Given the description of an element on the screen output the (x, y) to click on. 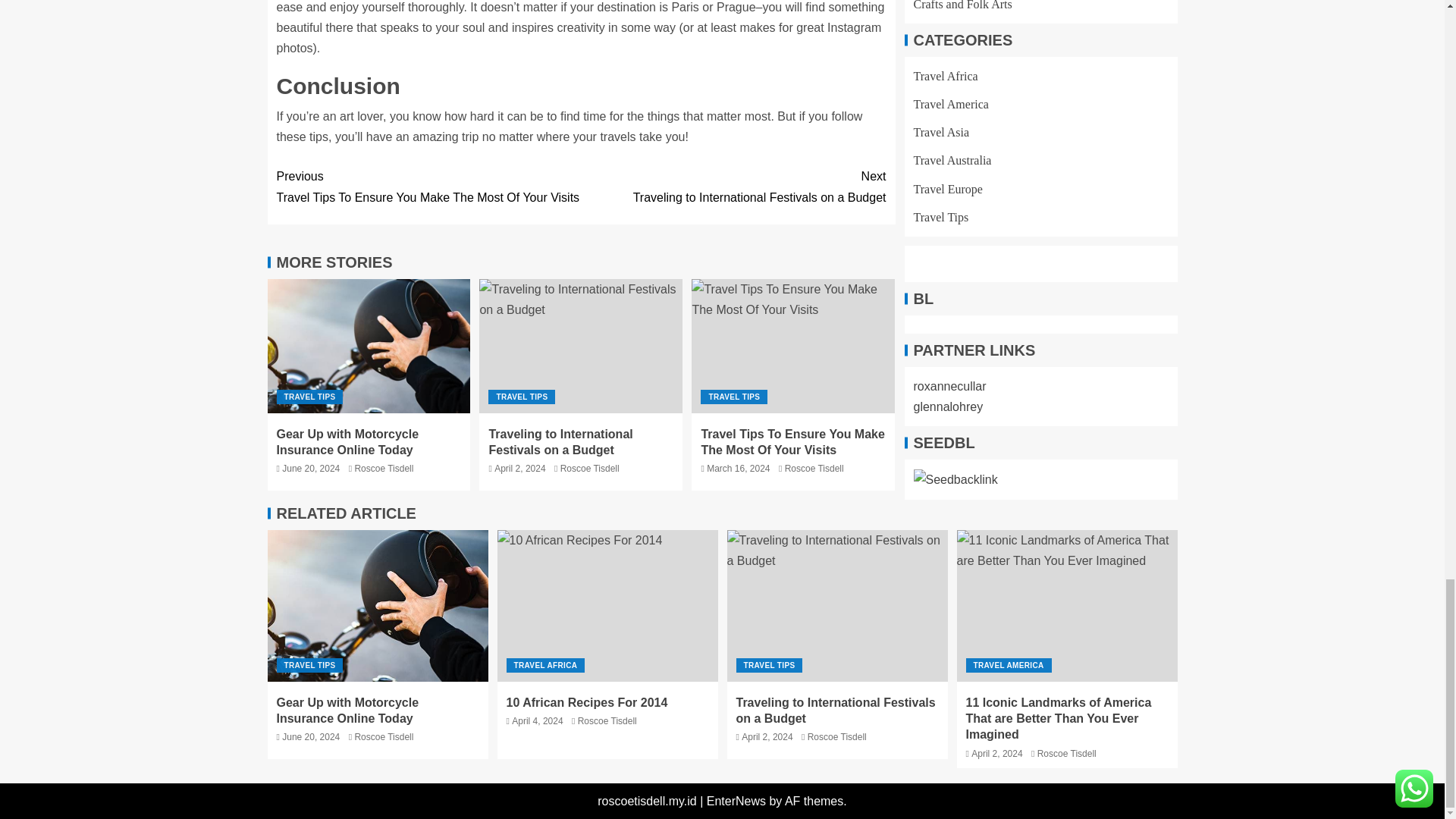
Travel Tips To Ensure You Make The Most Of Your Visits (793, 346)
TRAVEL TIPS (309, 396)
Gear Up with Motorcycle Insurance Online Today (368, 346)
Traveling to International Festivals on a Budget (580, 346)
Gear Up with Motorcycle Insurance Online Today (732, 186)
